Given the description of an element on the screen output the (x, y) to click on. 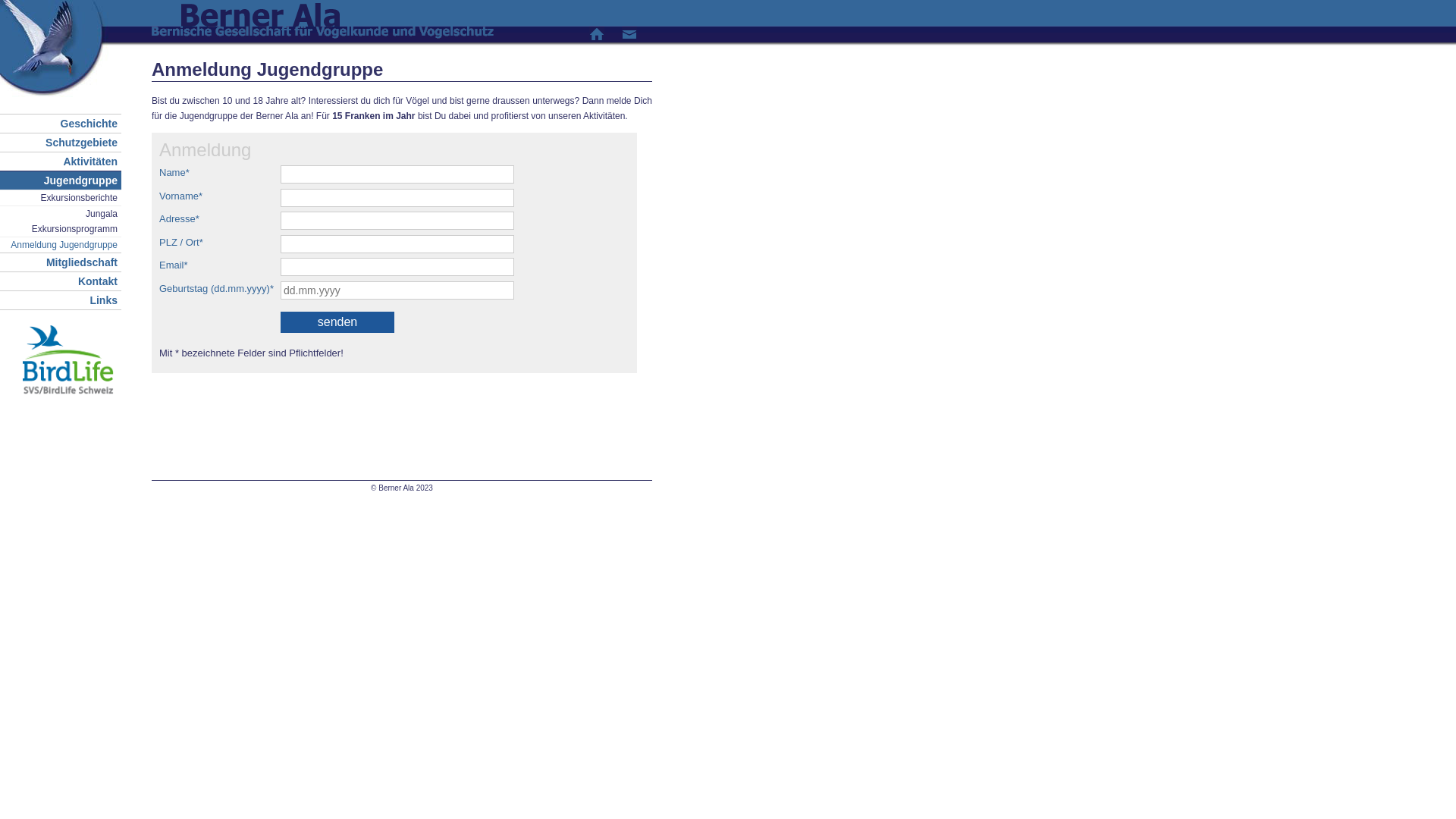
Schutzgebiete Element type: text (60, 142)
senden Element type: text (337, 321)
Kontakt Element type: text (60, 281)
Exkursionsberichte Element type: text (60, 197)
Jungala Exkursionsprogramm Element type: text (60, 221)
Anmeldung Jugendgruppe Element type: text (60, 244)
Geschichte Element type: text (60, 123)
Jugendgruppe Element type: text (60, 180)
Home Element type: hover (596, 38)
Kontakt Element type: hover (629, 38)
Zur Startseite Element type: hover (54, 94)
Mitgliedschaft Element type: text (60, 262)
Links Element type: text (60, 300)
